Given the description of an element on the screen output the (x, y) to click on. 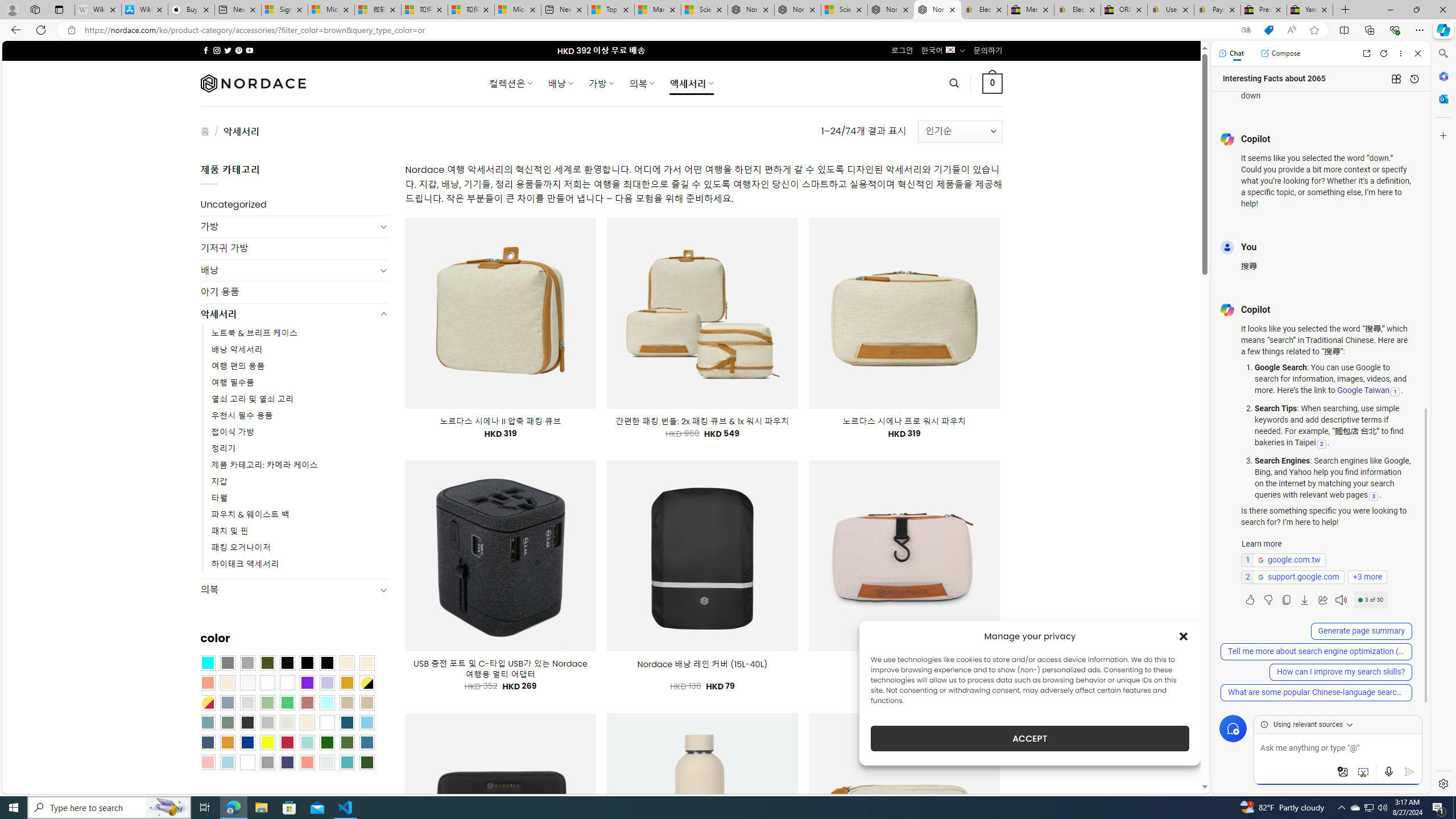
  0   (992, 83)
